Given the description of an element on the screen output the (x, y) to click on. 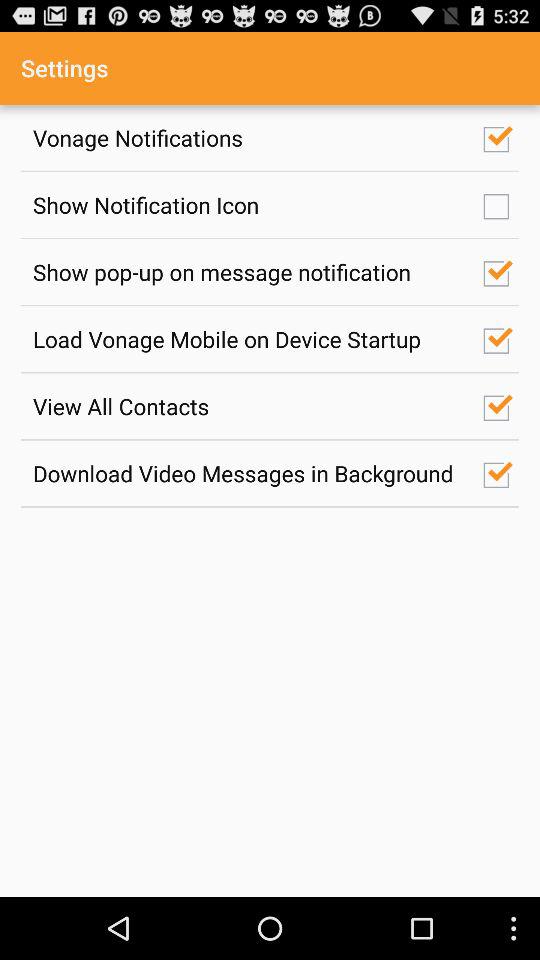
select the icon below the load vonage mobile icon (247, 406)
